Given the description of an element on the screen output the (x, y) to click on. 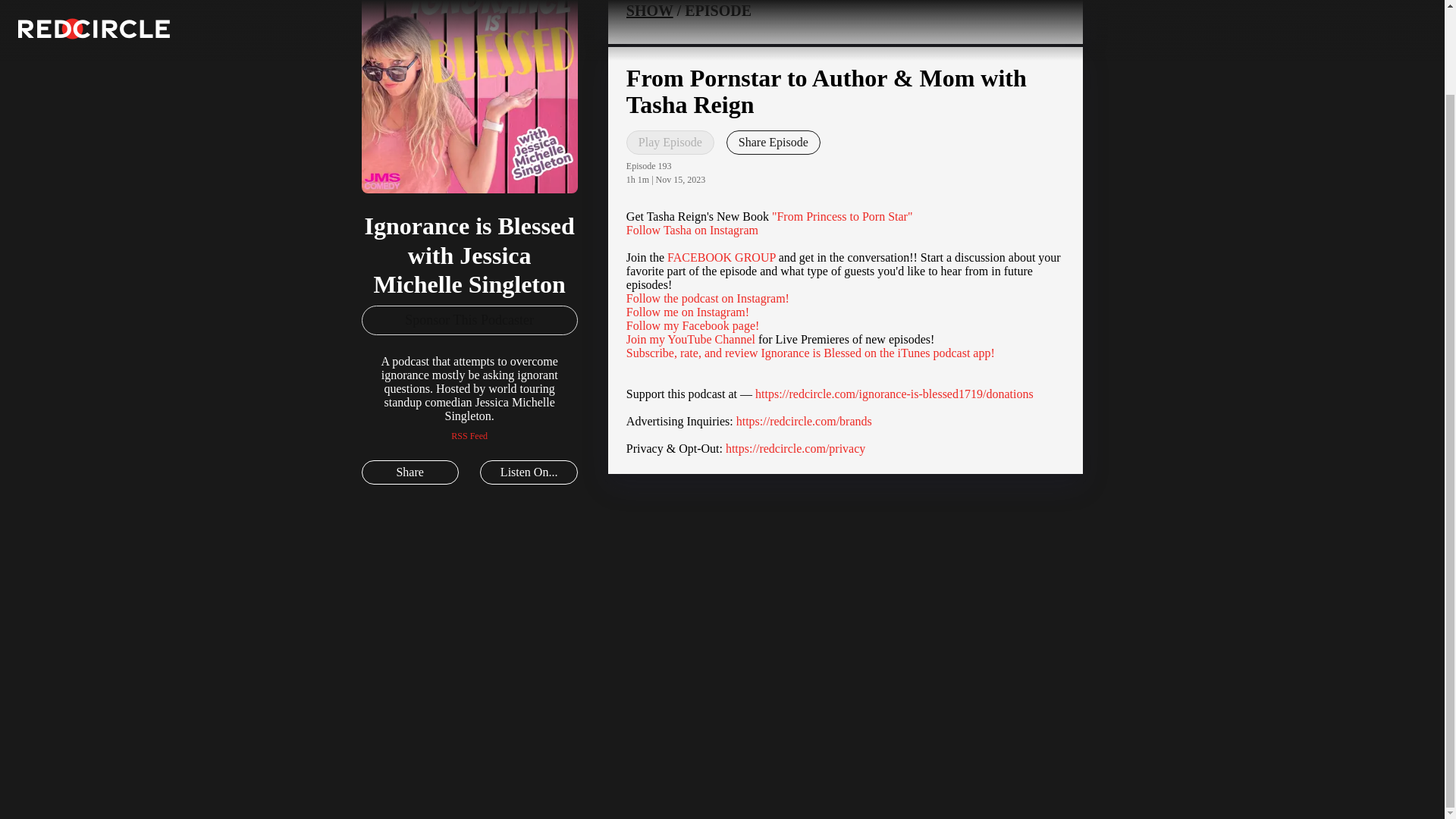
Share Episode (773, 142)
Play Episode (670, 142)
RSS Feed (469, 435)
Follow the podcast on Instagram! (707, 297)
Listen On... (528, 472)
Sponsor This Podcaster (468, 319)
Share (409, 472)
"From Princess to Porn Star" (841, 215)
